Given the description of an element on the screen output the (x, y) to click on. 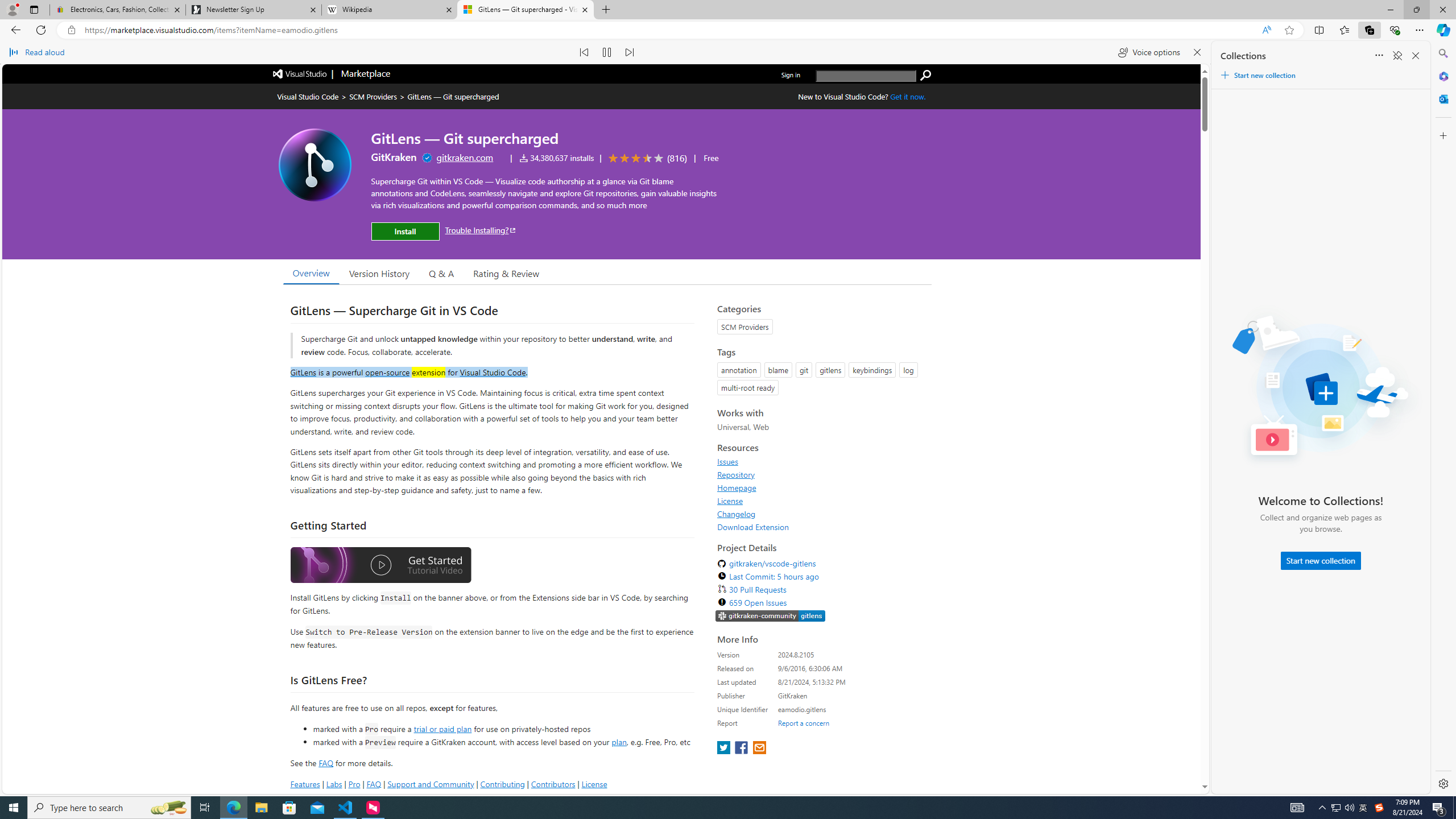
Close read aloud (1196, 52)
Q & A (441, 272)
Install (405, 231)
Report a concern (803, 722)
Start new collection (1321, 560)
Visual Studio Code (492, 371)
